Given the description of an element on the screen output the (x, y) to click on. 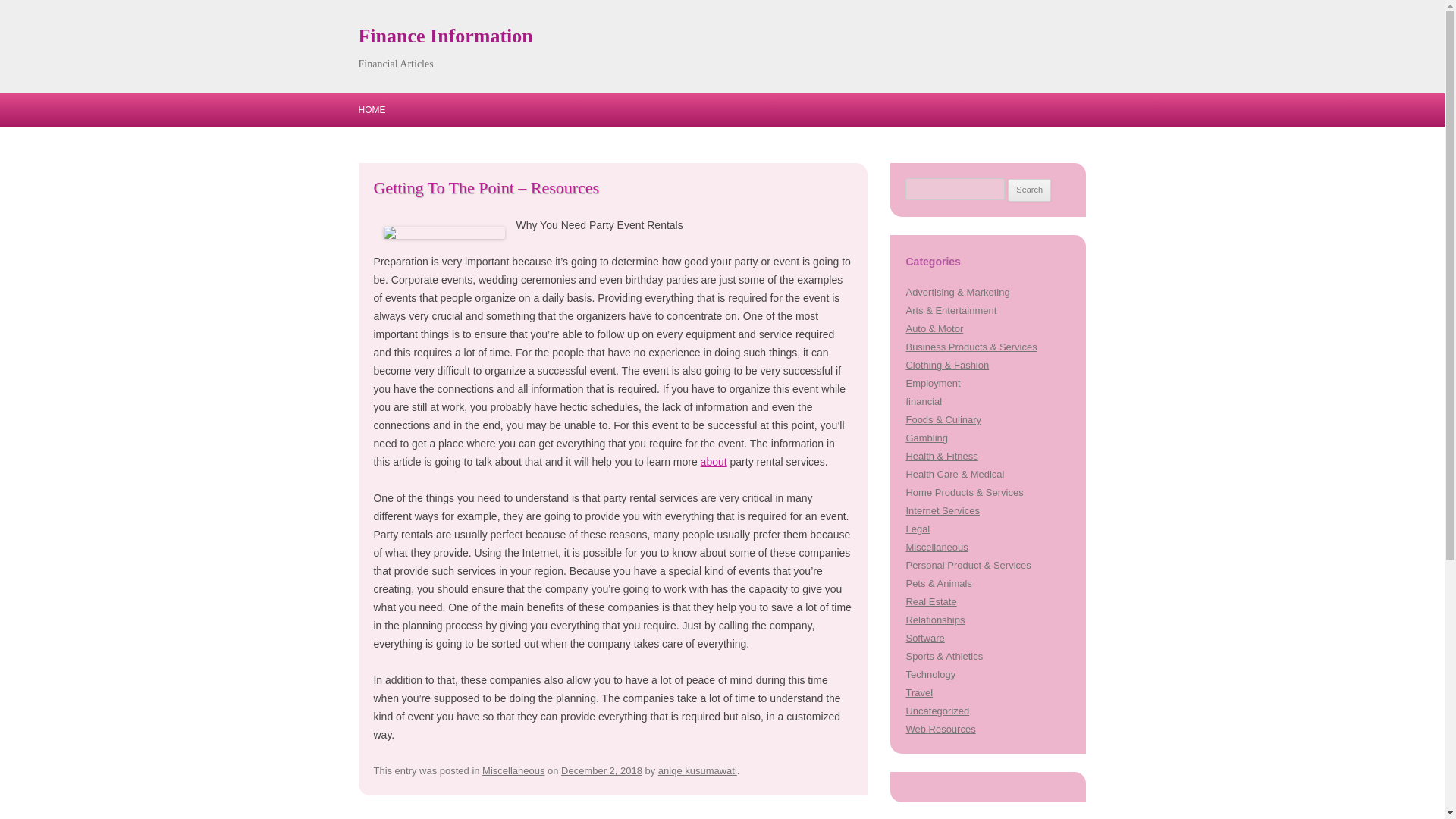
Gambling (926, 437)
Technology (930, 674)
Miscellaneous (936, 546)
Miscellaneous (512, 770)
Finance Information (445, 36)
Internet Services (941, 510)
December 2, 2018 (601, 770)
aniqe kusumawati (697, 770)
financial (923, 401)
Finance Information (445, 36)
View all posts by aniqe kusumawati (697, 770)
Legal (917, 528)
Search (1029, 190)
about (713, 461)
